Given the description of an element on the screen output the (x, y) to click on. 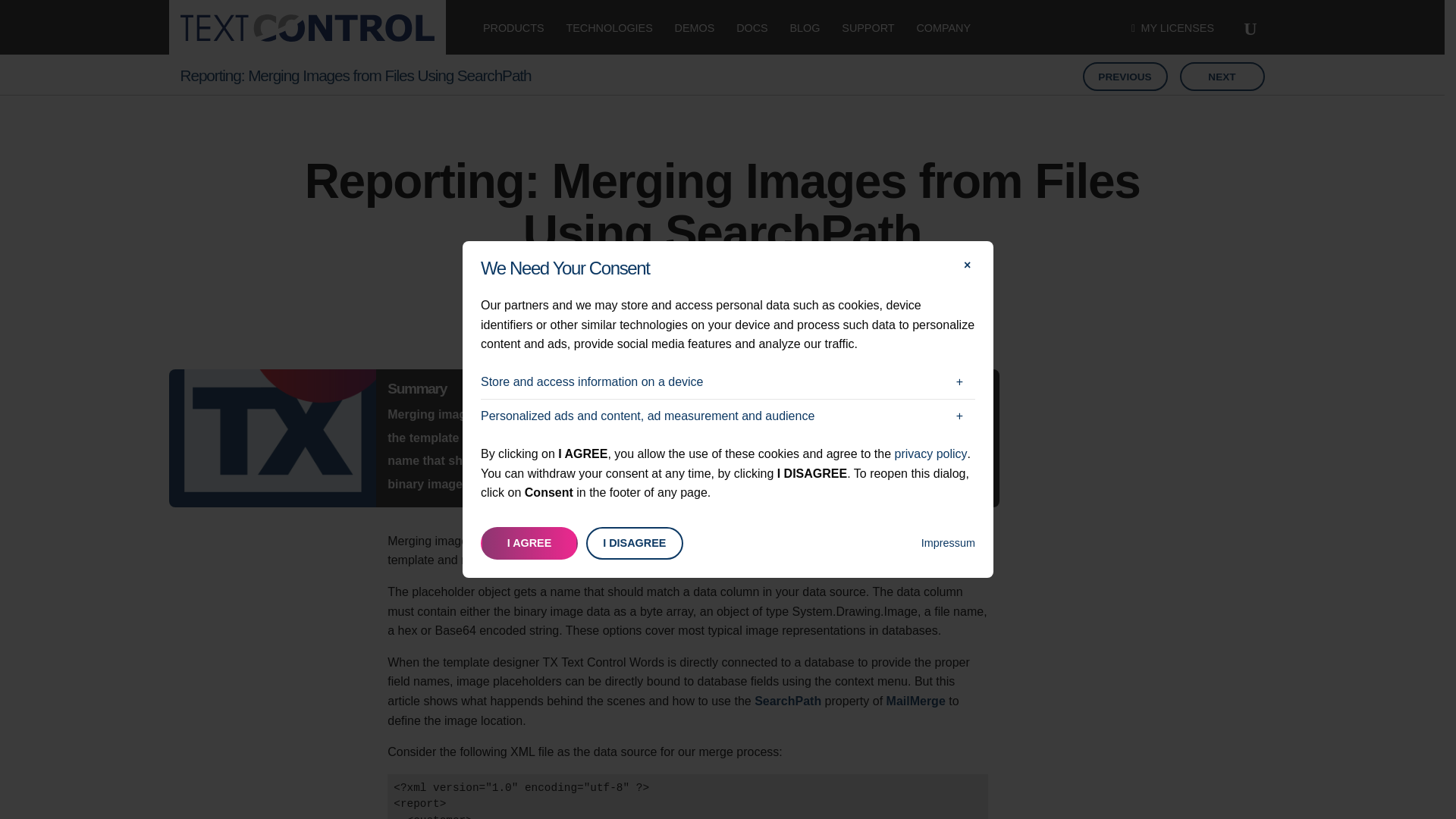
I DISAGREE (634, 543)
DOCS (751, 27)
COMPANY (943, 27)
privacy policy (931, 453)
TECHNOLOGIES (608, 27)
BLOG (804, 27)
Text Control (306, 27)
Store and access information on a device (727, 382)
I AGREE (529, 543)
PRODUCTS (512, 27)
Impressum (948, 539)
SUPPORT (868, 27)
Personalized ads and content, ad measurement and audience (727, 415)
MY LICENSES (1172, 27)
DEMOS (694, 27)
